Given the description of an element on the screen output the (x, y) to click on. 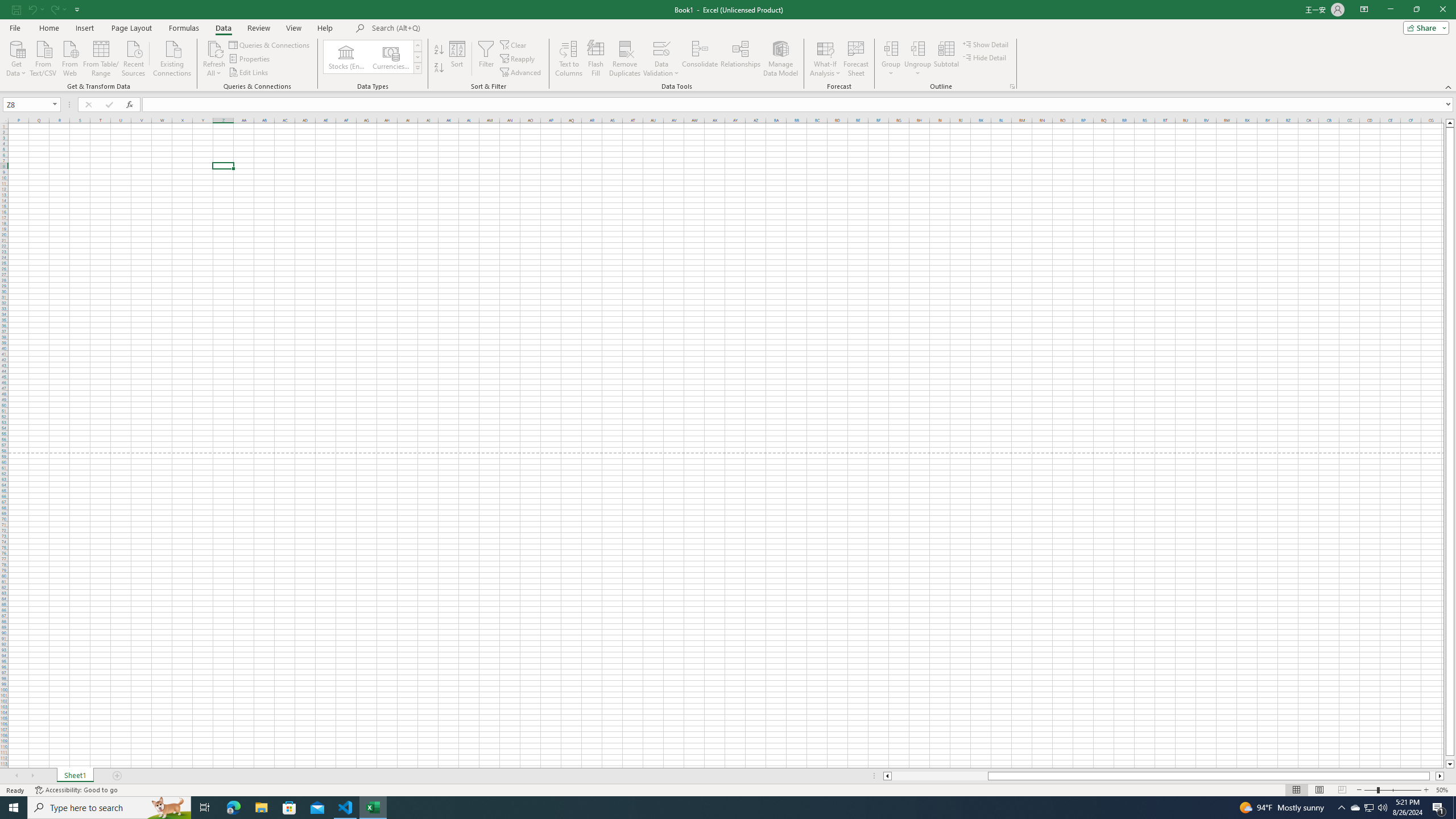
Data Types (417, 67)
Text to Columns... (568, 58)
Properties (250, 58)
Existing Connections (171, 57)
Row Down (417, 56)
Advanced... (520, 72)
Class: MsoCommandBar (728, 45)
Consolidate... (700, 58)
